Given the description of an element on the screen output the (x, y) to click on. 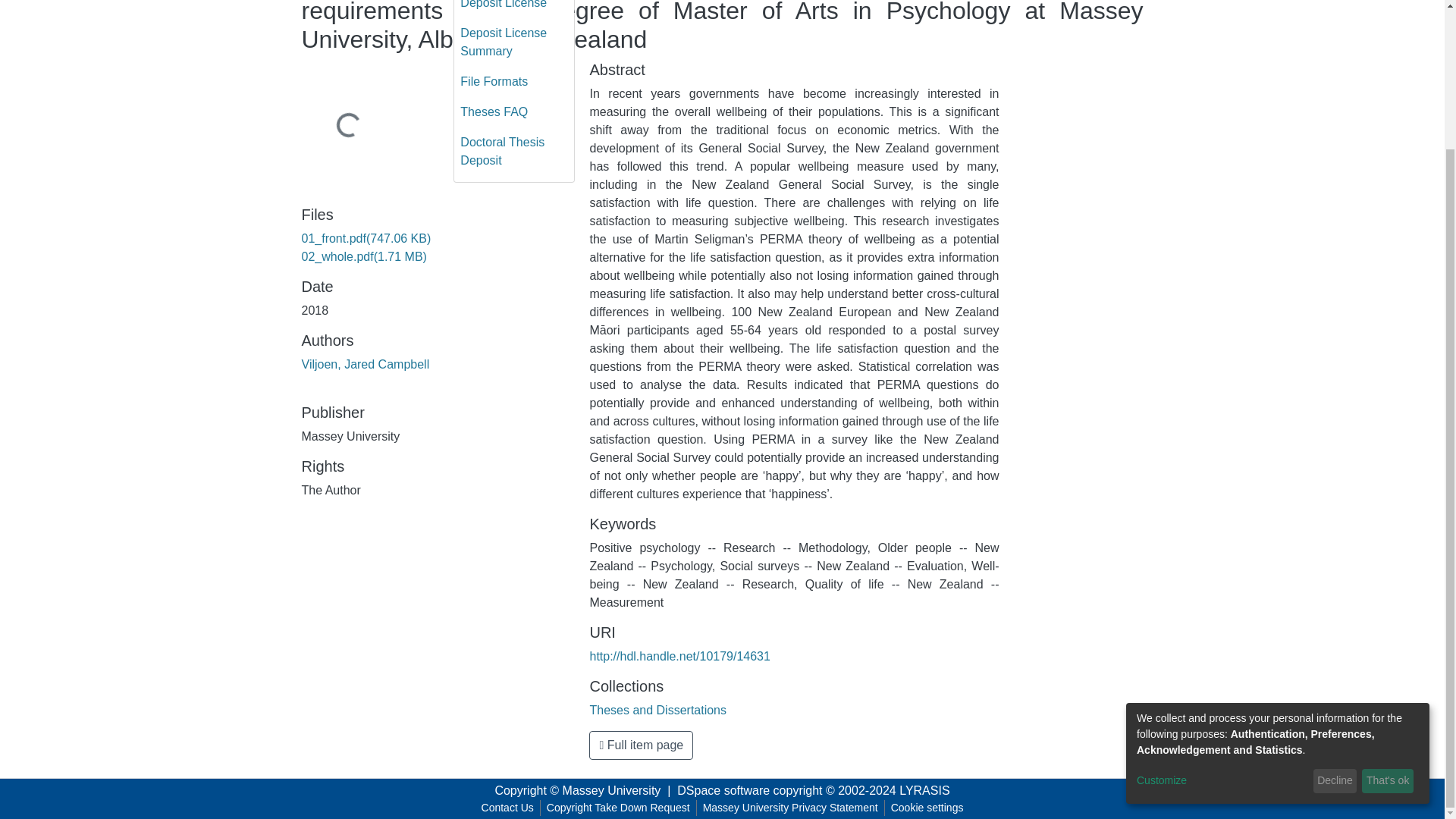
Full item page (641, 745)
File Formats (513, 81)
Theses and Dissertations (657, 709)
Contact Us (508, 807)
Doctoral Thesis Deposit (513, 151)
Viljoen, Jared Campbell (365, 364)
DSpace software (723, 789)
Deposit License (513, 9)
Theses FAQ (513, 112)
LYRASIS (924, 789)
